Given the description of an element on the screen output the (x, y) to click on. 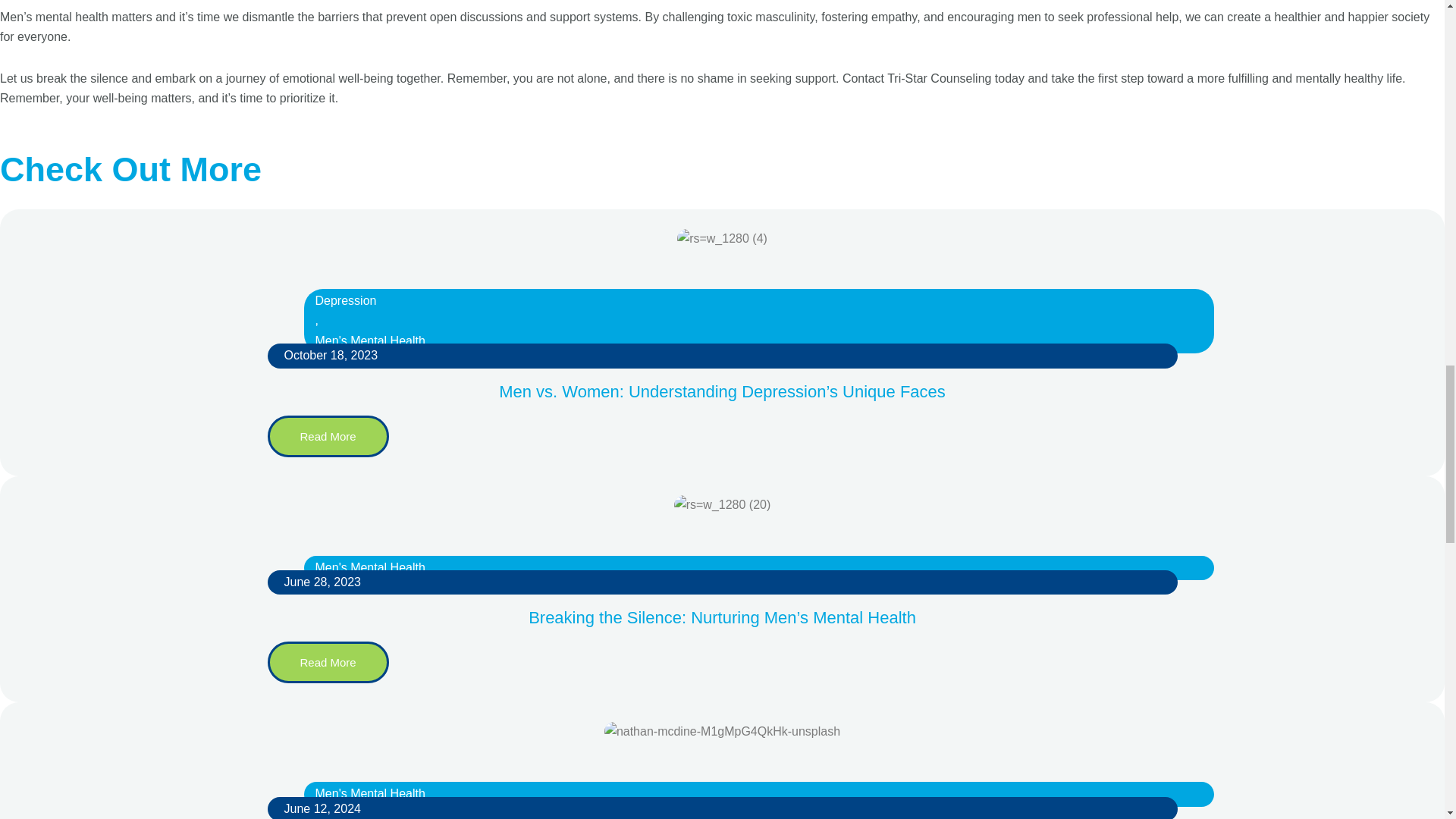
Men's Mental Health (370, 341)
Depression (370, 301)
Read More (327, 436)
Men's Mental Health (370, 793)
Read More (327, 662)
Men's Mental Health (370, 567)
nathan-mcdine-M1gMpG4QkHk-unsplash (722, 731)
